Given the description of an element on the screen output the (x, y) to click on. 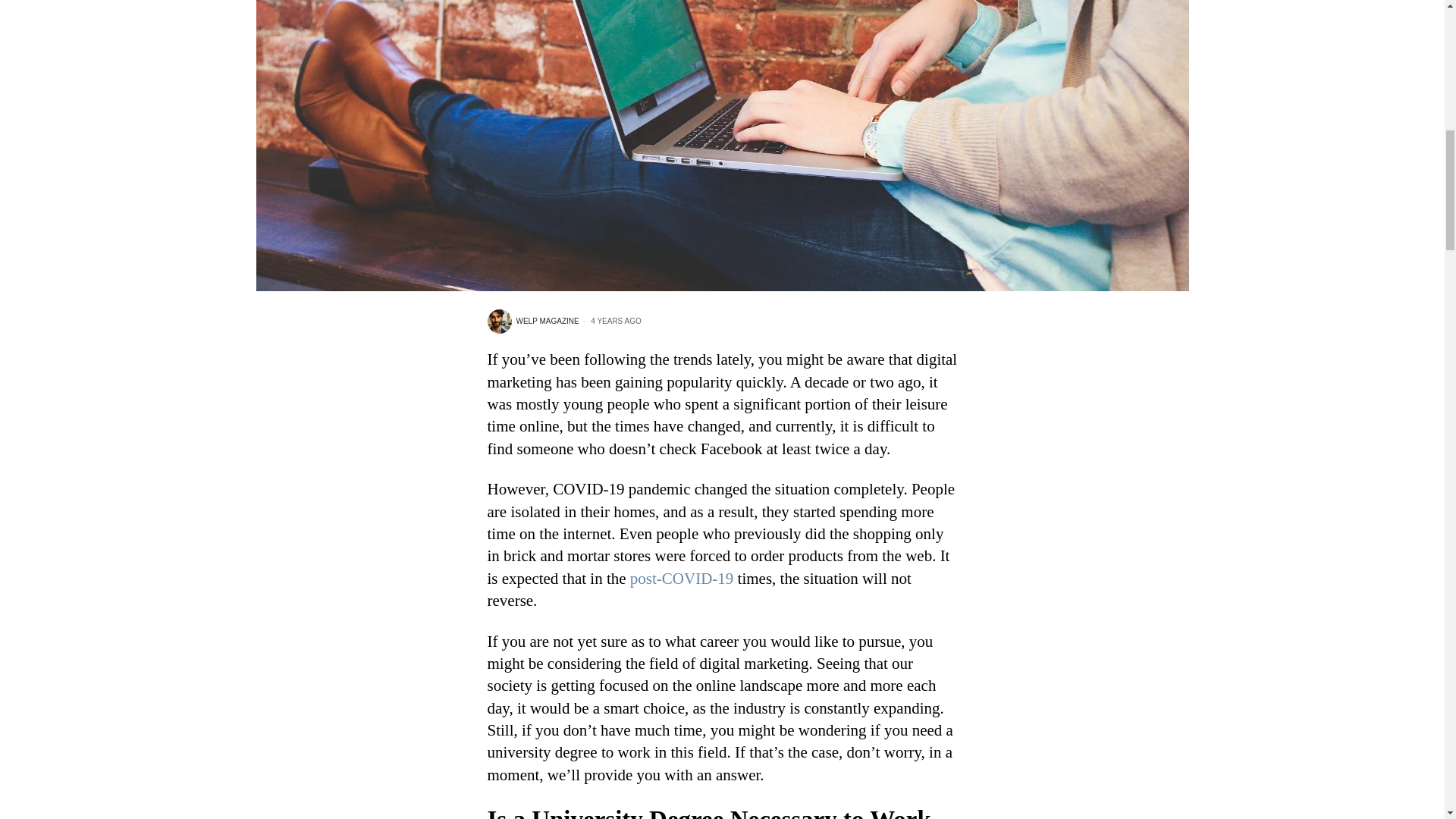
16 Oct, 2020 14:19:47 (610, 321)
post-COVID-19 (681, 578)
WELP MAGAZINE (532, 321)
